Given the description of an element on the screen output the (x, y) to click on. 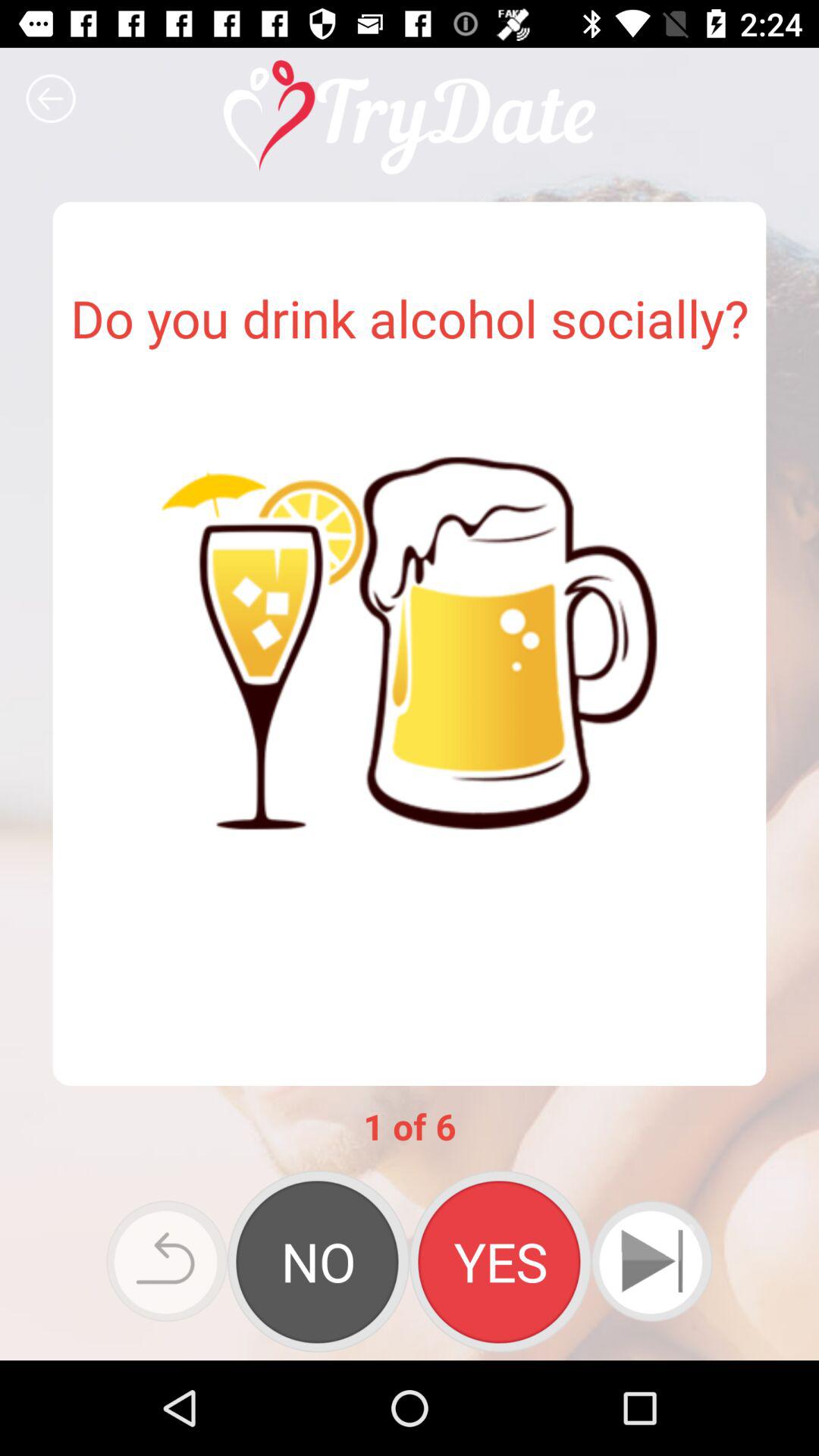
toggle next (651, 1260)
